Given the description of an element on the screen output the (x, y) to click on. 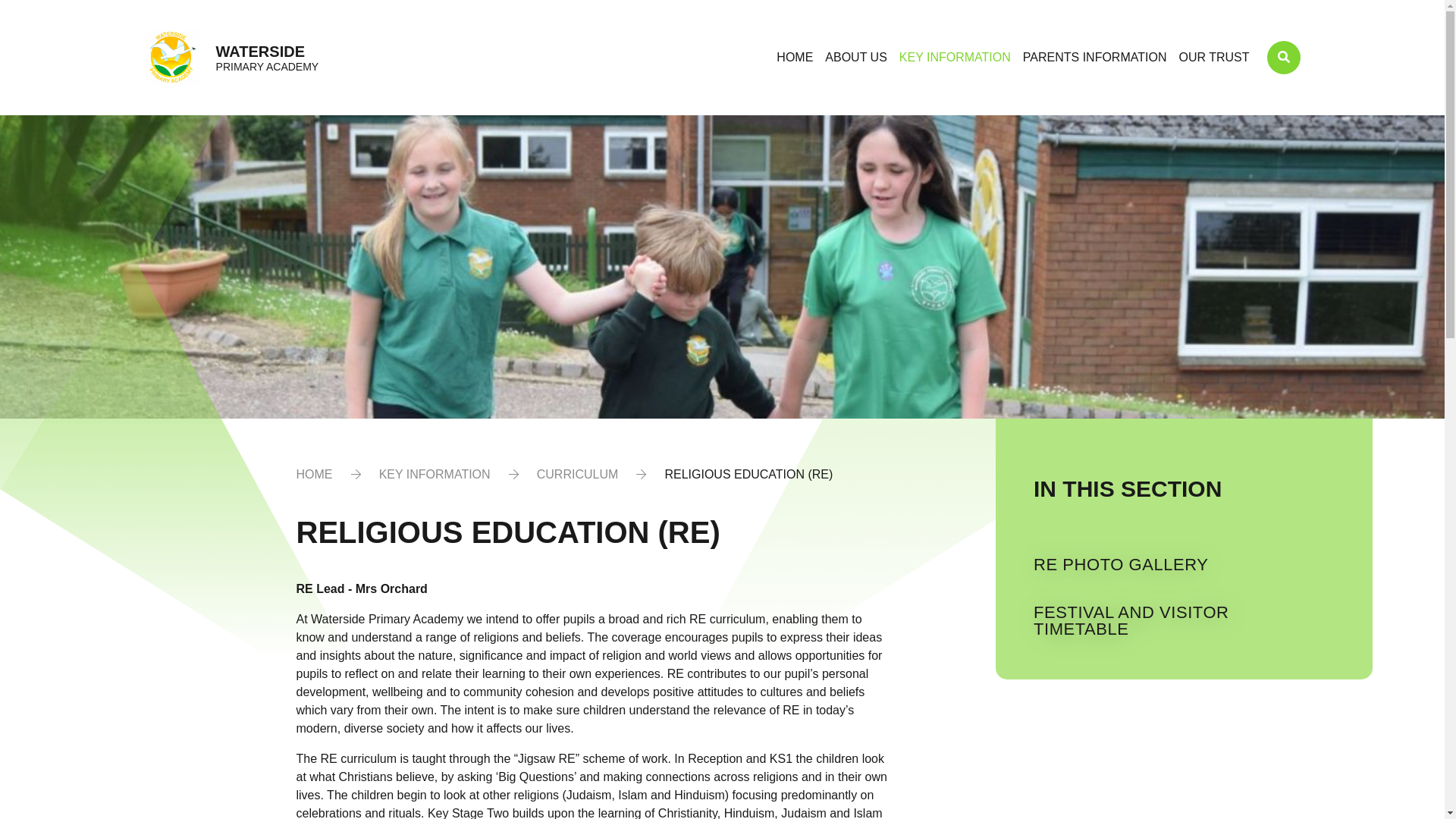
ABOUT US (855, 57)
KEY INFORMATION (954, 57)
HOME (794, 57)
